Given the description of an element on the screen output the (x, y) to click on. 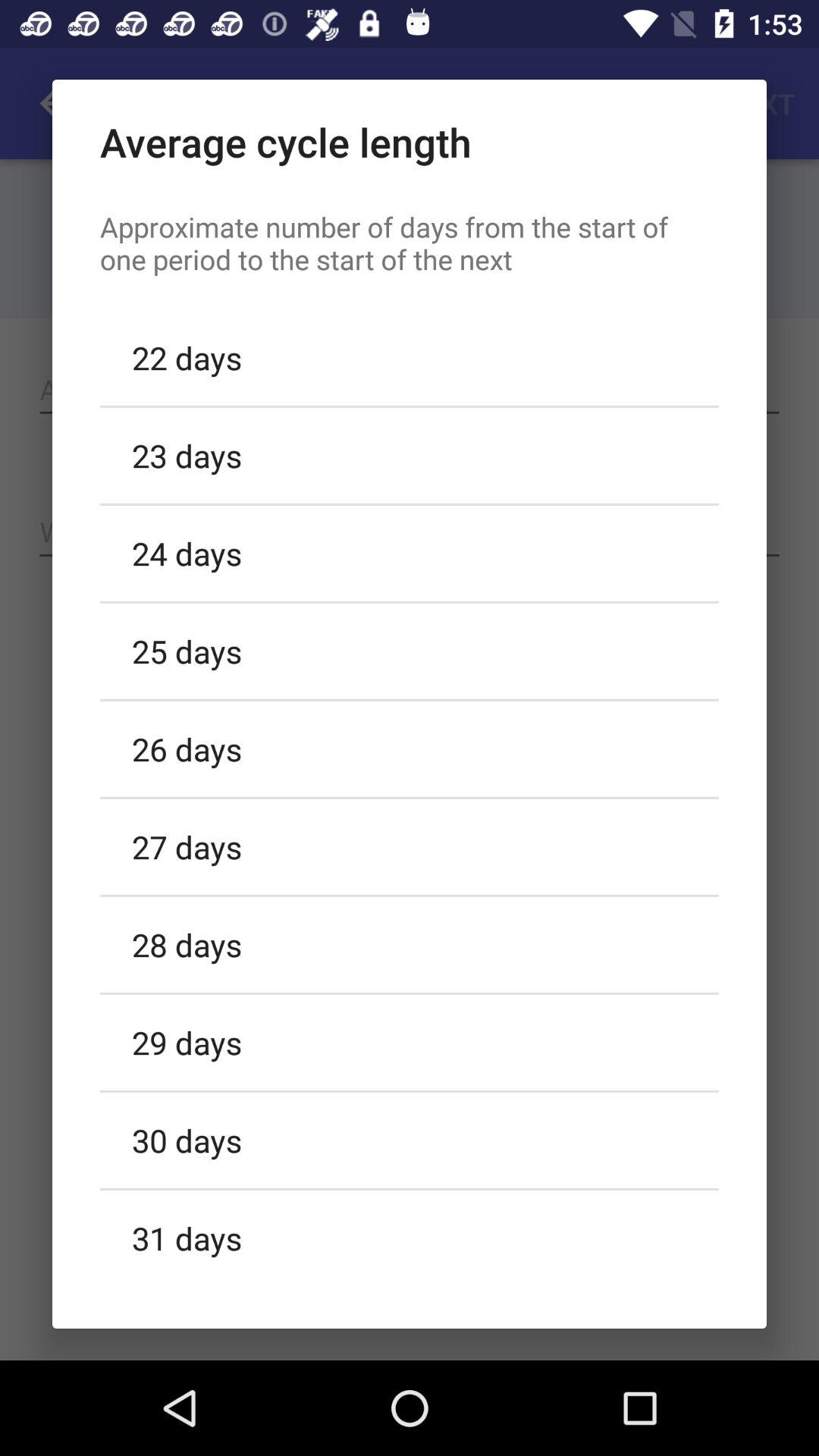
jump to 25 days (409, 650)
